Given the description of an element on the screen output the (x, y) to click on. 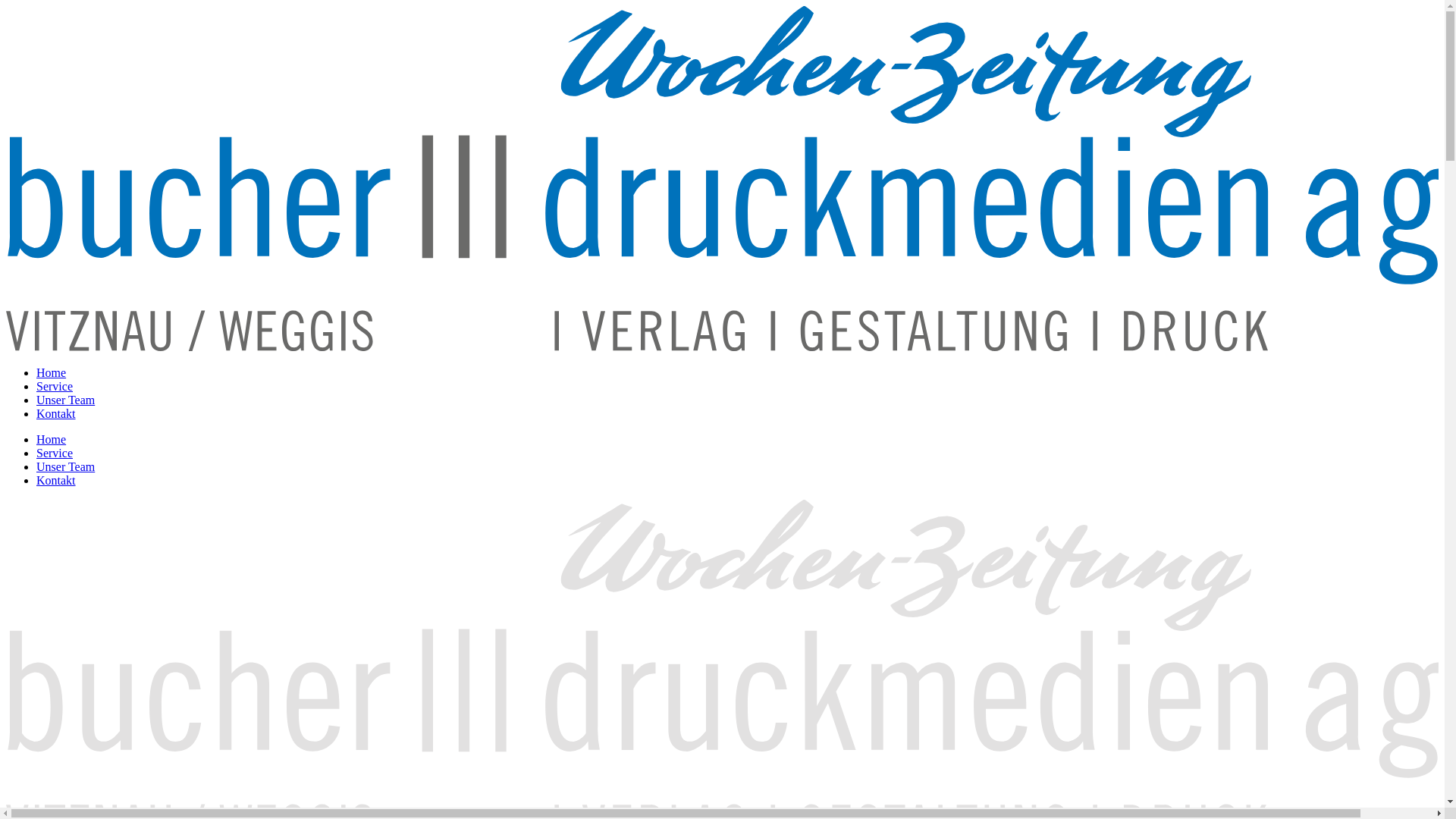
Kontakt Element type: text (55, 479)
Home Element type: text (50, 372)
Home Element type: text (50, 439)
Service Element type: text (54, 452)
Unser Team Element type: text (65, 399)
Kontakt Element type: text (55, 413)
Unser Team Element type: text (65, 466)
Service Element type: text (54, 385)
